Given the description of an element on the screen output the (x, y) to click on. 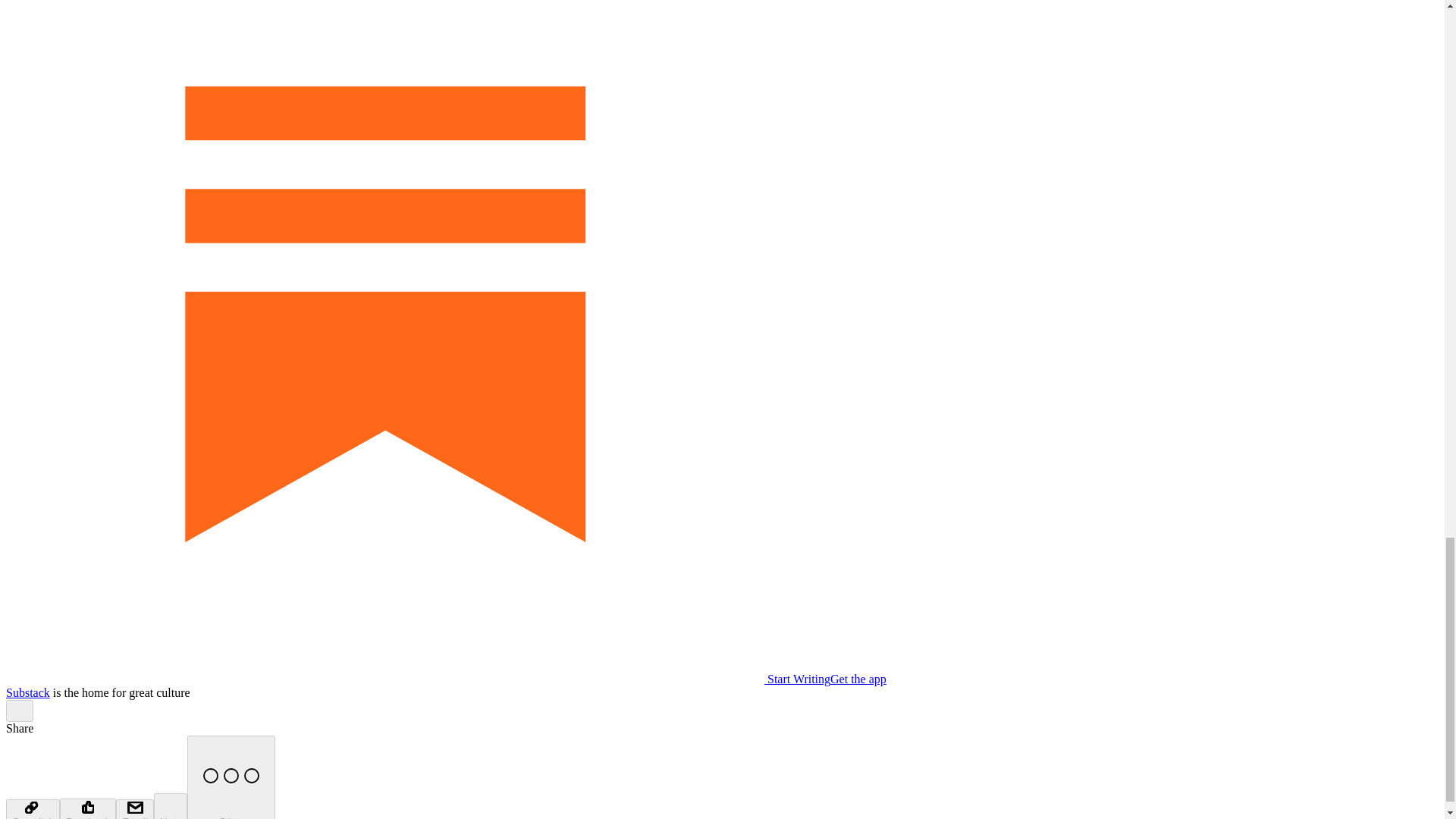
Substack (27, 692)
Start Writing (417, 678)
Get the app (857, 678)
